Given the description of an element on the screen output the (x, y) to click on. 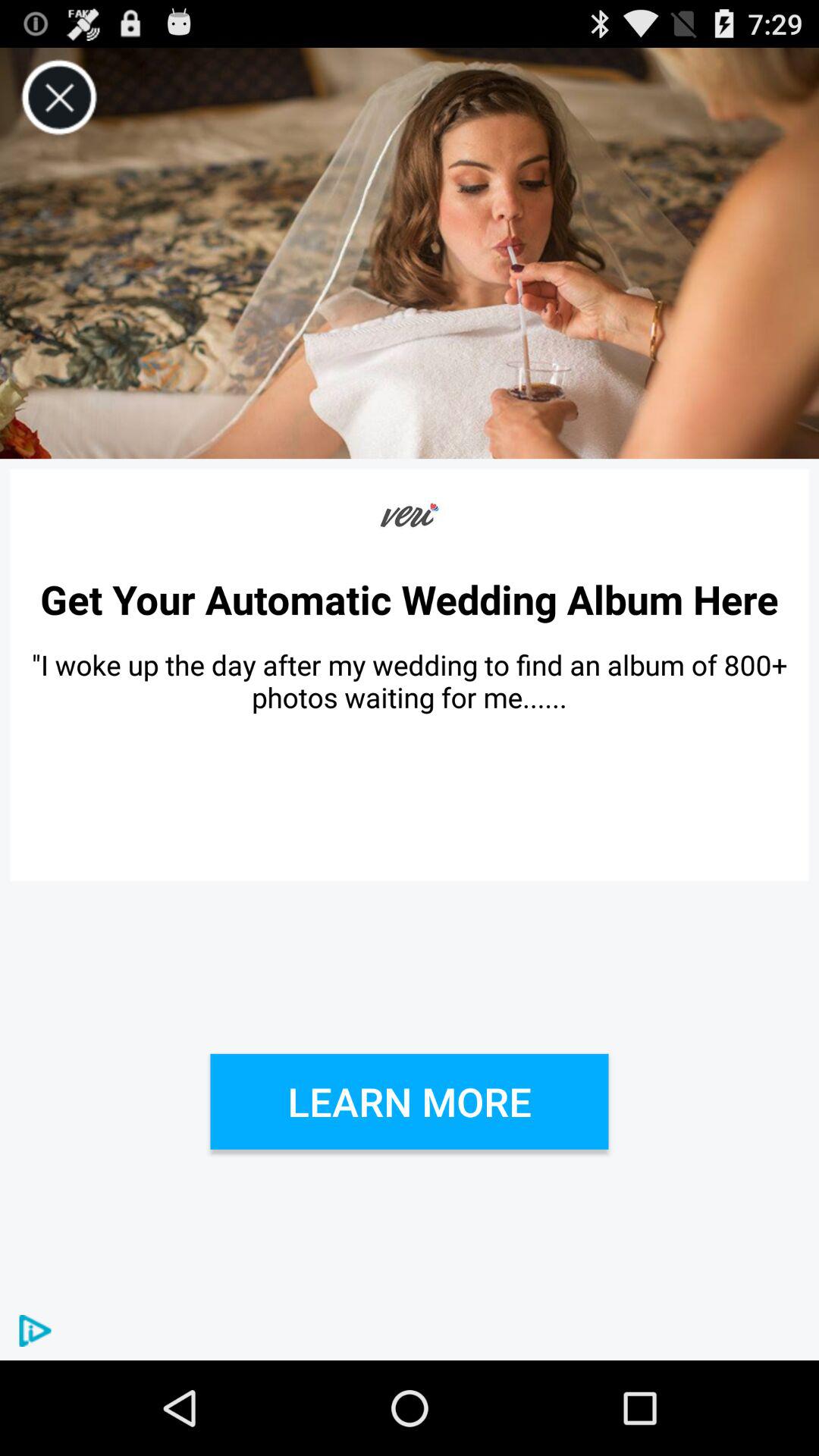
click image (409, 252)
